Given the description of an element on the screen output the (x, y) to click on. 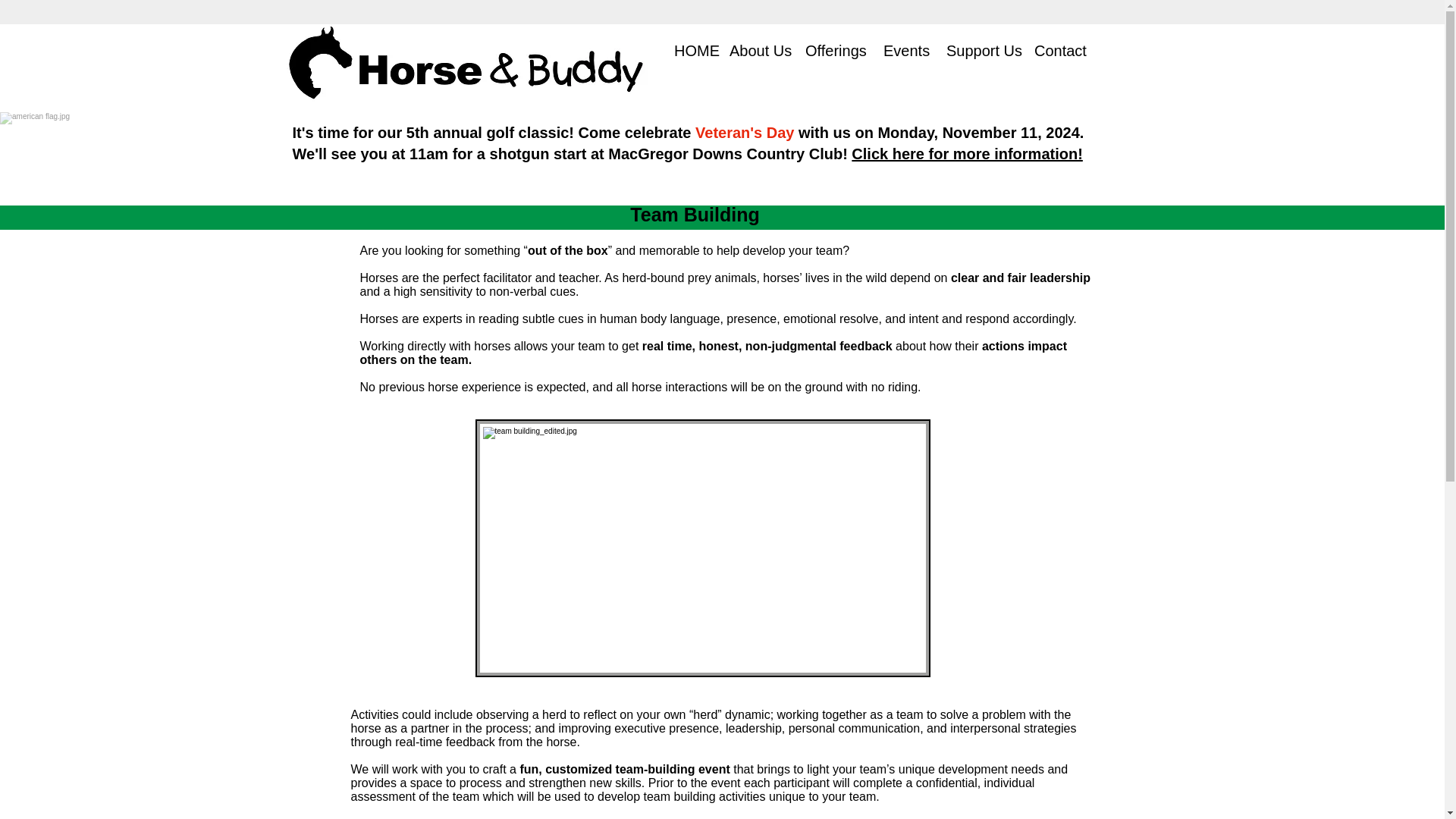
HOME (689, 50)
Support Us (978, 50)
Click here for more information! (967, 153)
Contact (1057, 50)
Events (903, 50)
About Us (755, 50)
